Given the description of an element on the screen output the (x, y) to click on. 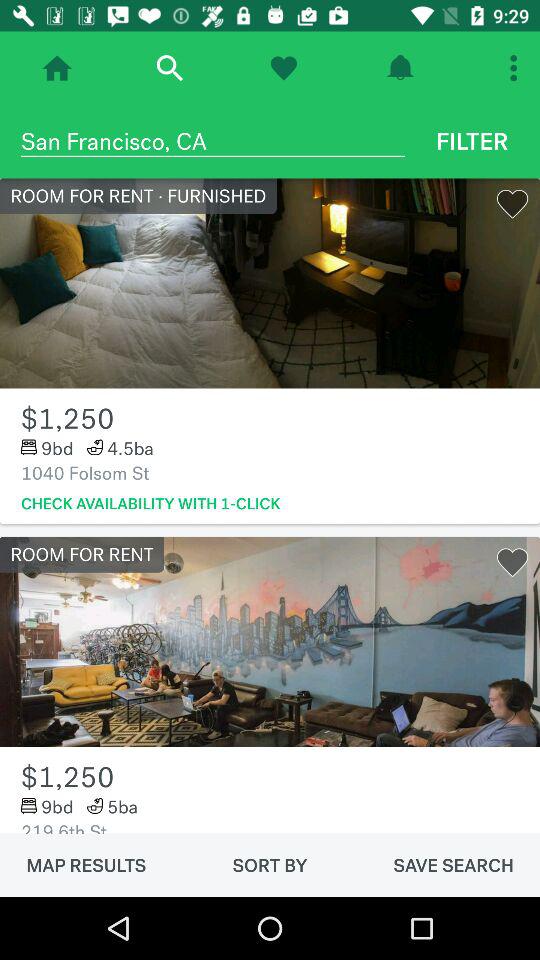
go to home (57, 68)
